Given the description of an element on the screen output the (x, y) to click on. 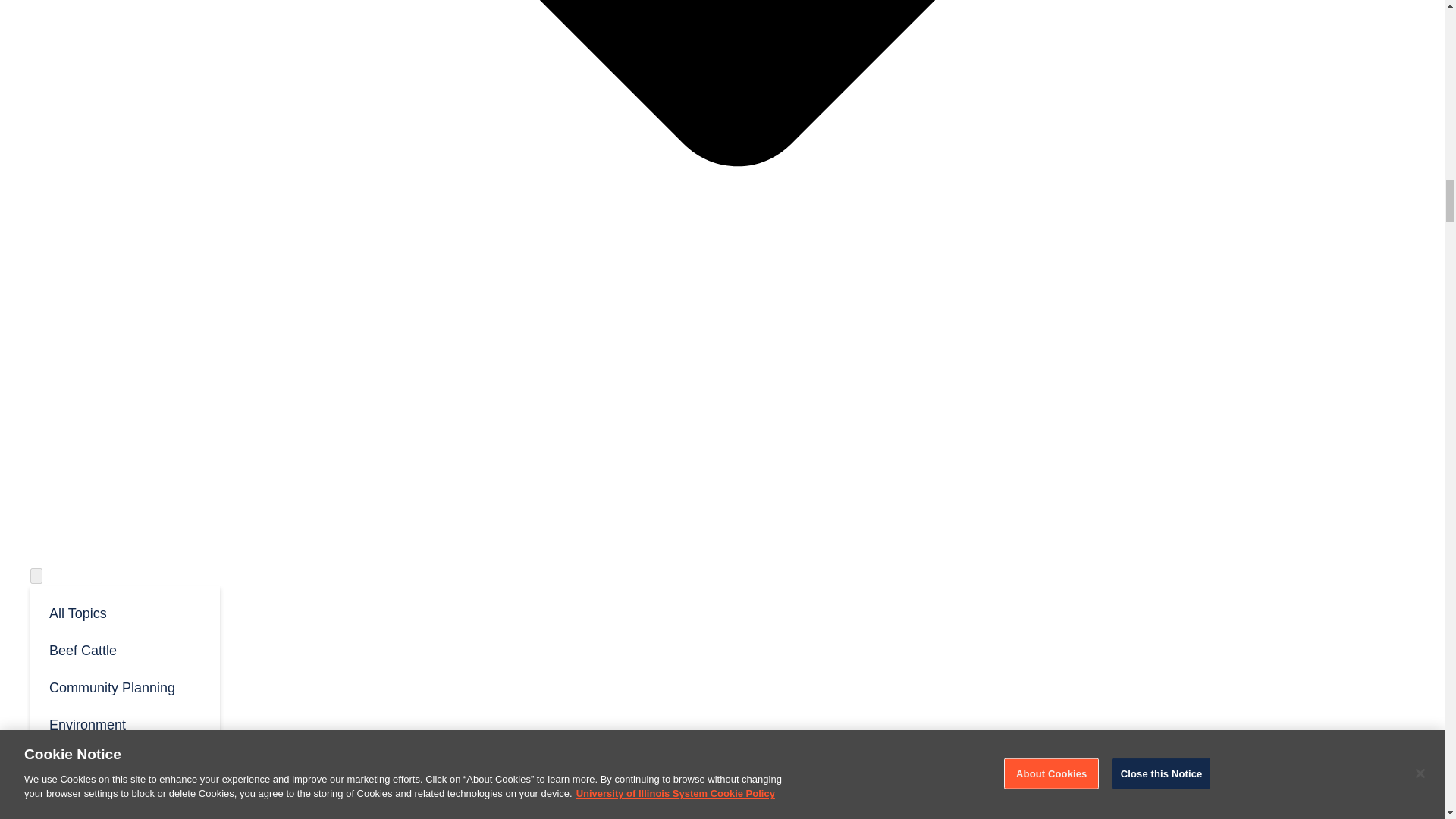
All Topics (125, 611)
Community Planning (125, 686)
Family (125, 760)
Beef Cattle (125, 649)
Environment (125, 723)
Insects (125, 817)
Food (125, 797)
